Given the description of an element on the screen output the (x, y) to click on. 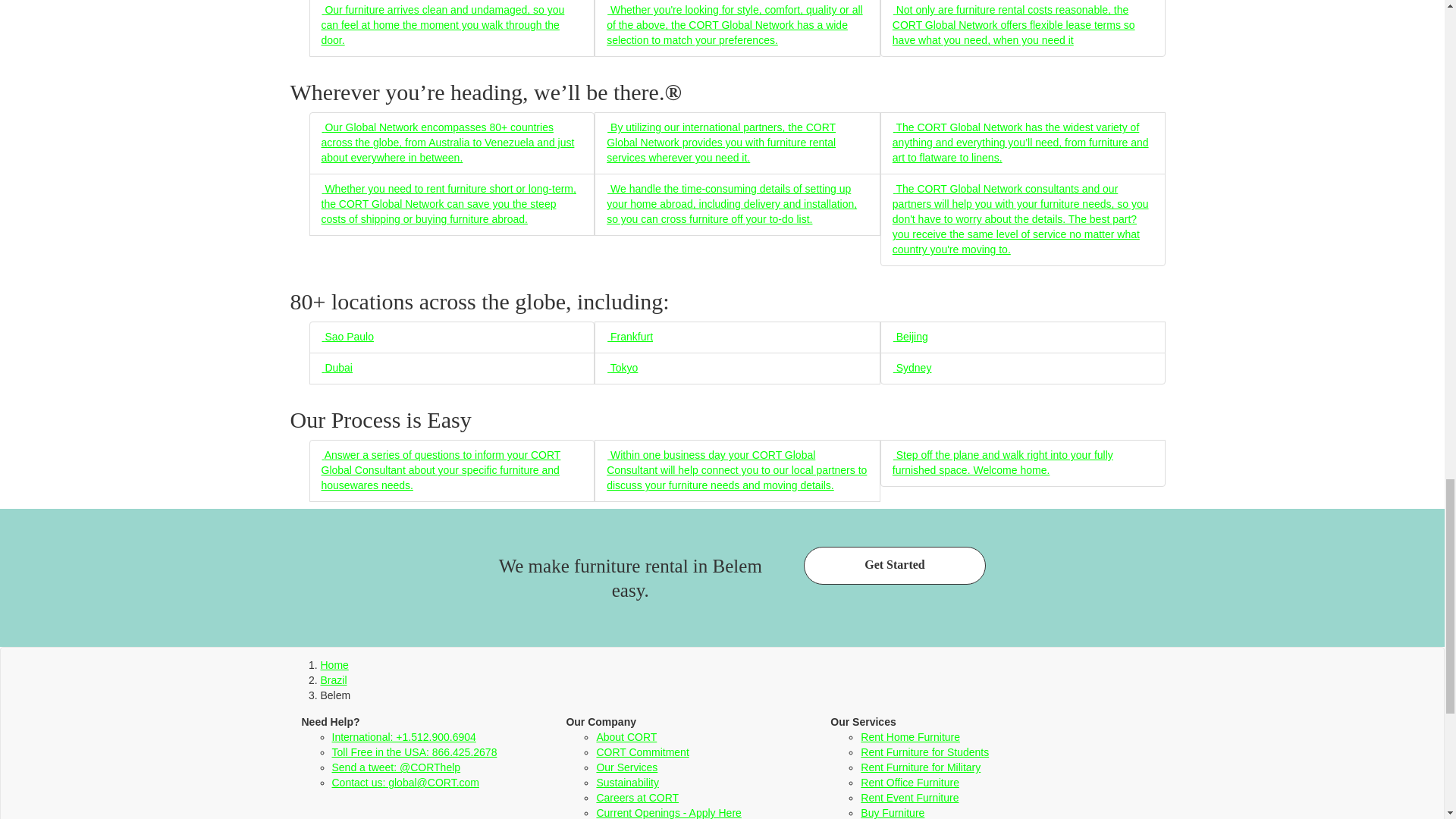
Dubai (336, 367)
Sao Paulo (347, 336)
Tokyo (622, 367)
Frankfurt (629, 336)
Brazil (333, 680)
Home (333, 664)
